Given the description of an element on the screen output the (x, y) to click on. 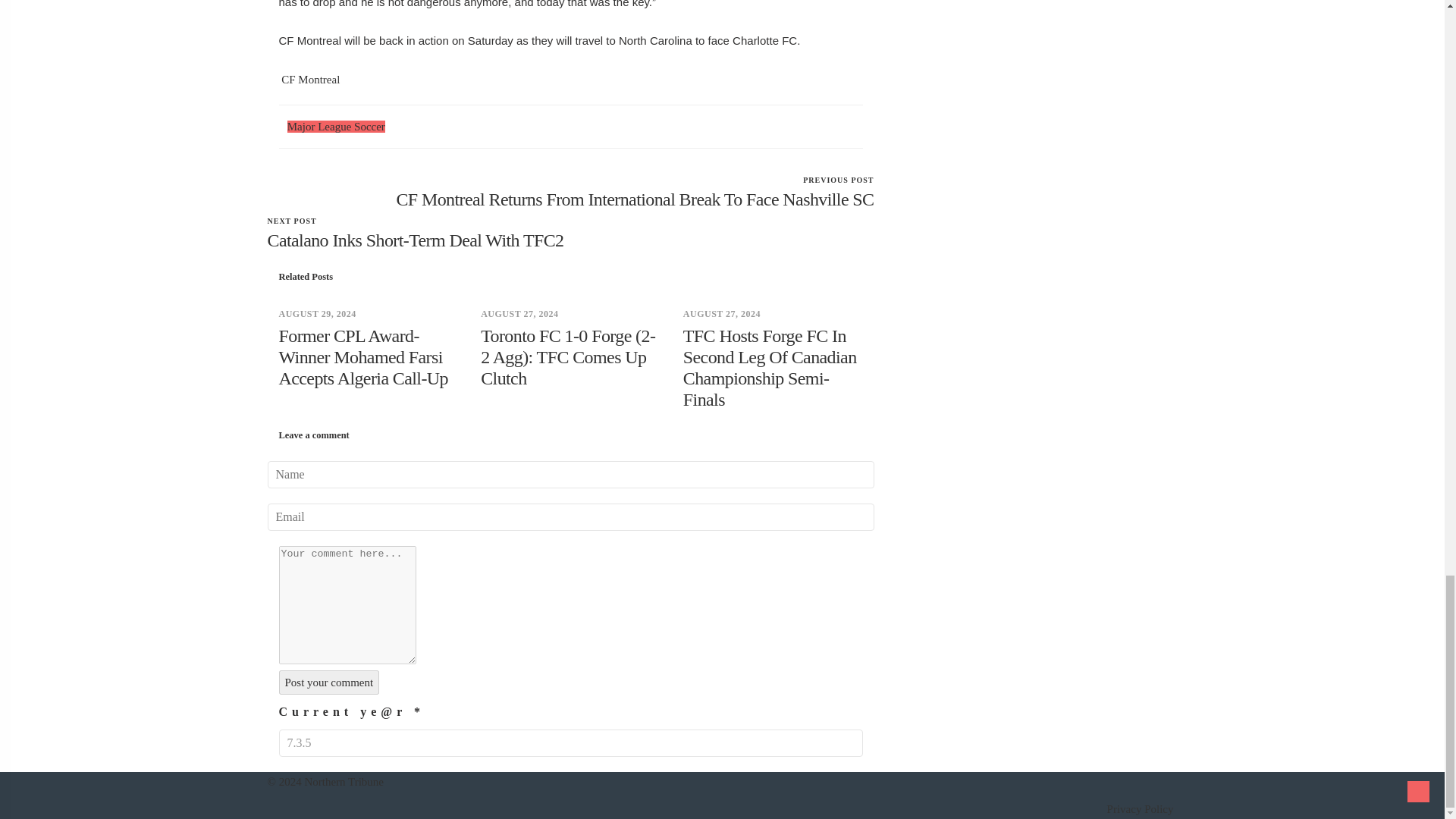
Major League Soccer (569, 231)
Post your comment (335, 126)
7.3.5 (329, 682)
CF Montreal (571, 742)
